Given the description of an element on the screen output the (x, y) to click on. 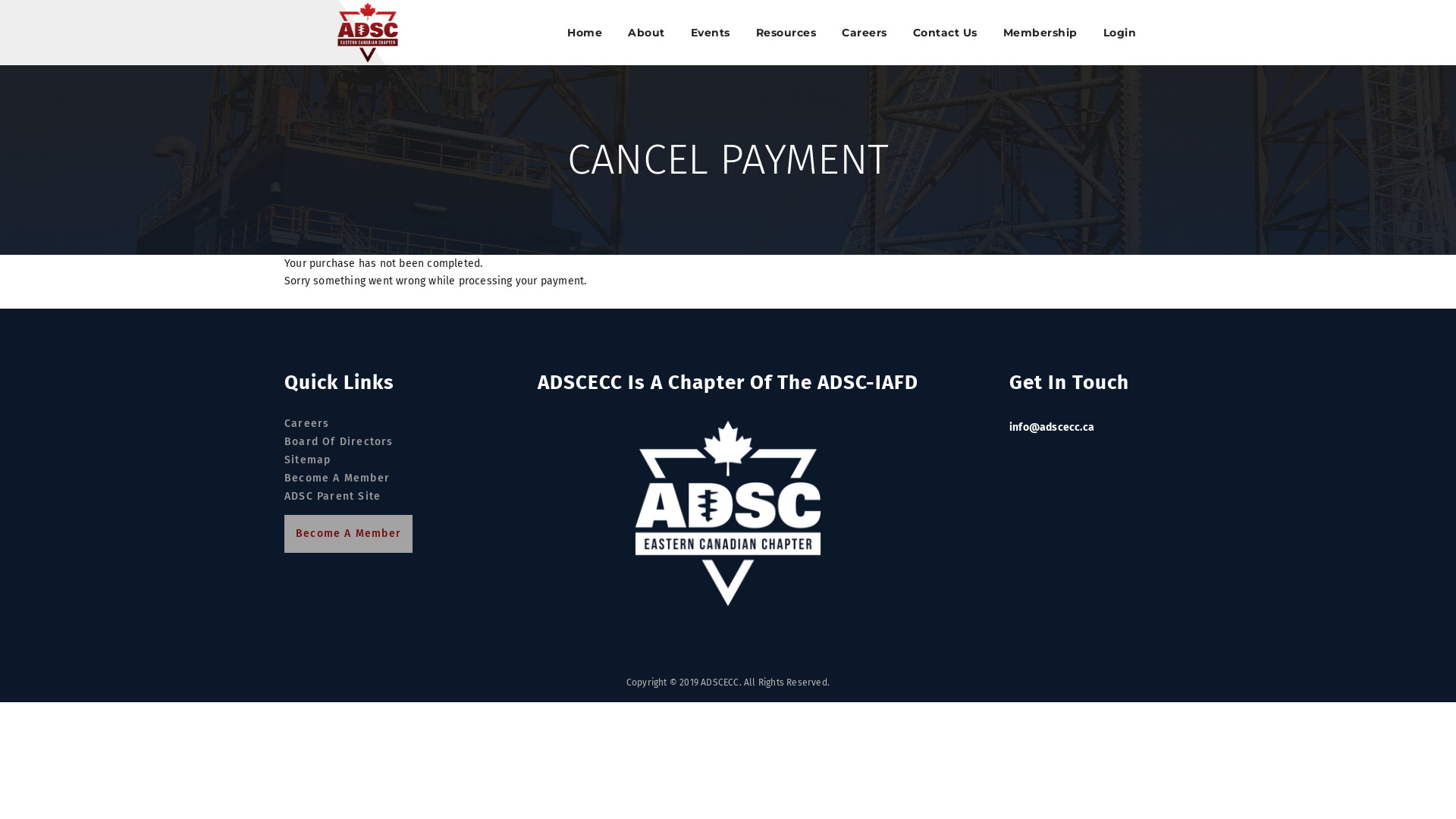
Contact Us Element type: text (944, 32)
Membership Element type: text (1039, 32)
info@adscecc.ca Element type: text (1051, 426)
Become A Member Element type: text (348, 533)
About Element type: text (646, 32)
Home Element type: text (584, 32)
Board Of Directors Element type: text (338, 441)
Careers Element type: text (864, 32)
Resources Element type: text (785, 32)
ADSC Parent Site Element type: text (332, 496)
Login Element type: text (1119, 32)
Become A Member Element type: text (336, 478)
Careers Element type: text (306, 423)
Events Element type: text (709, 32)
Sitemap Element type: text (307, 459)
